Given the description of an element on the screen output the (x, y) to click on. 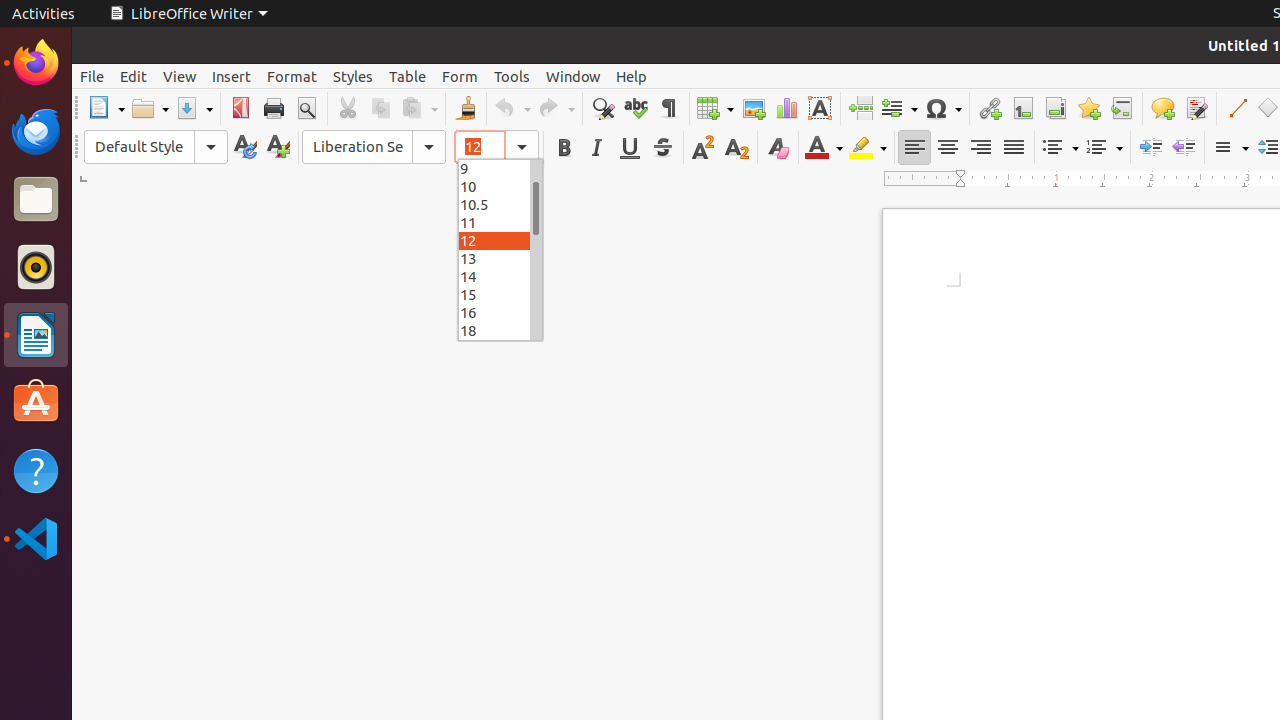
12 Element type: list-item (500, 240)
11 Element type: list-item (500, 222)
Underline Element type: push-button (629, 147)
Paragraph Style Element type: combo-box (156, 147)
Spelling Element type: push-button (635, 108)
